Given the description of an element on the screen output the (x, y) to click on. 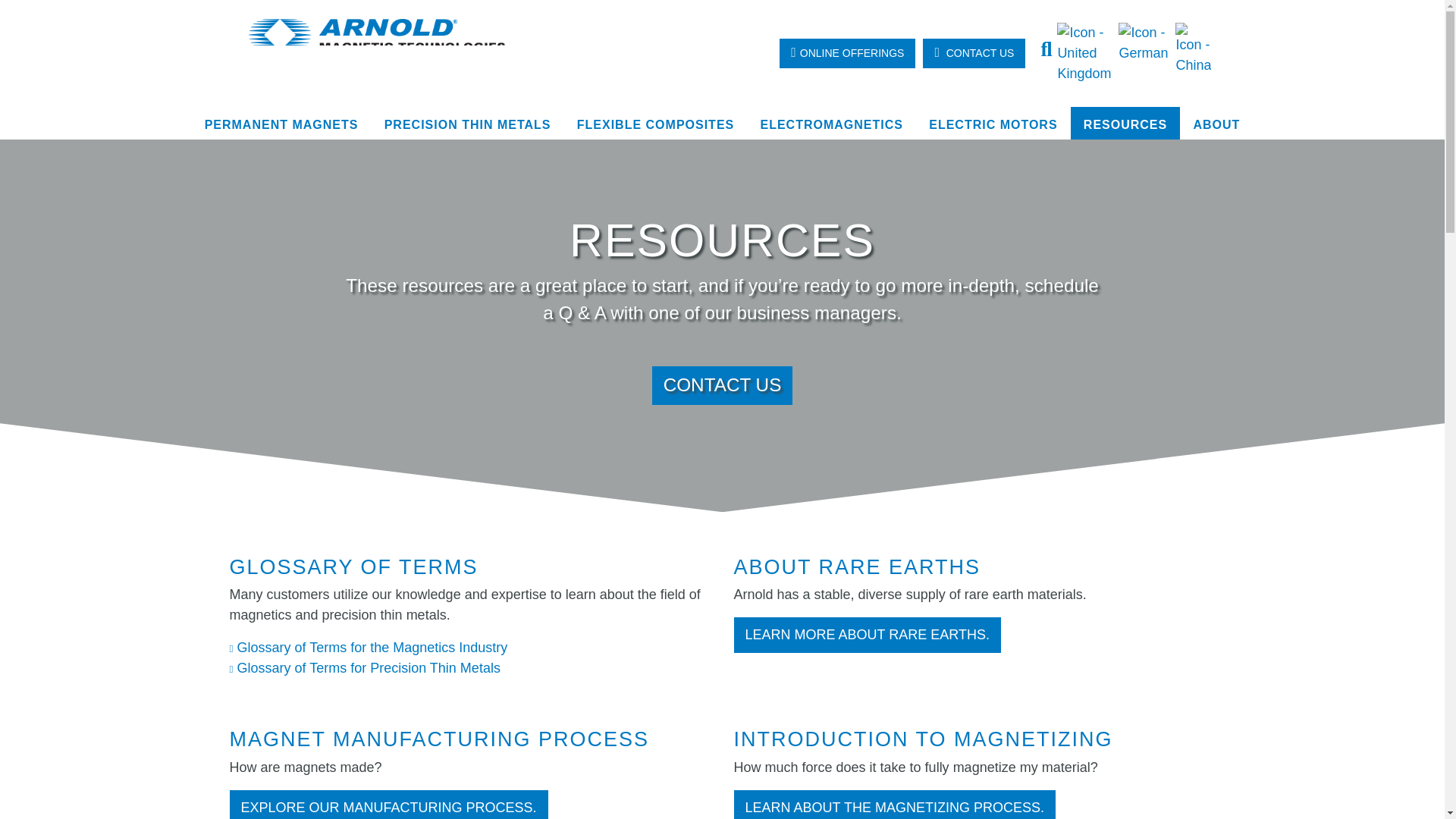
FLEXIBLE COMPOSITES (656, 124)
PRECISION THIN METALS (467, 124)
ELECTRIC MOTORS (992, 124)
RESOURCES (1125, 124)
ELECTROMAGNETICS (830, 124)
PERMANENT MAGNETS (280, 124)
